Given the description of an element on the screen output the (x, y) to click on. 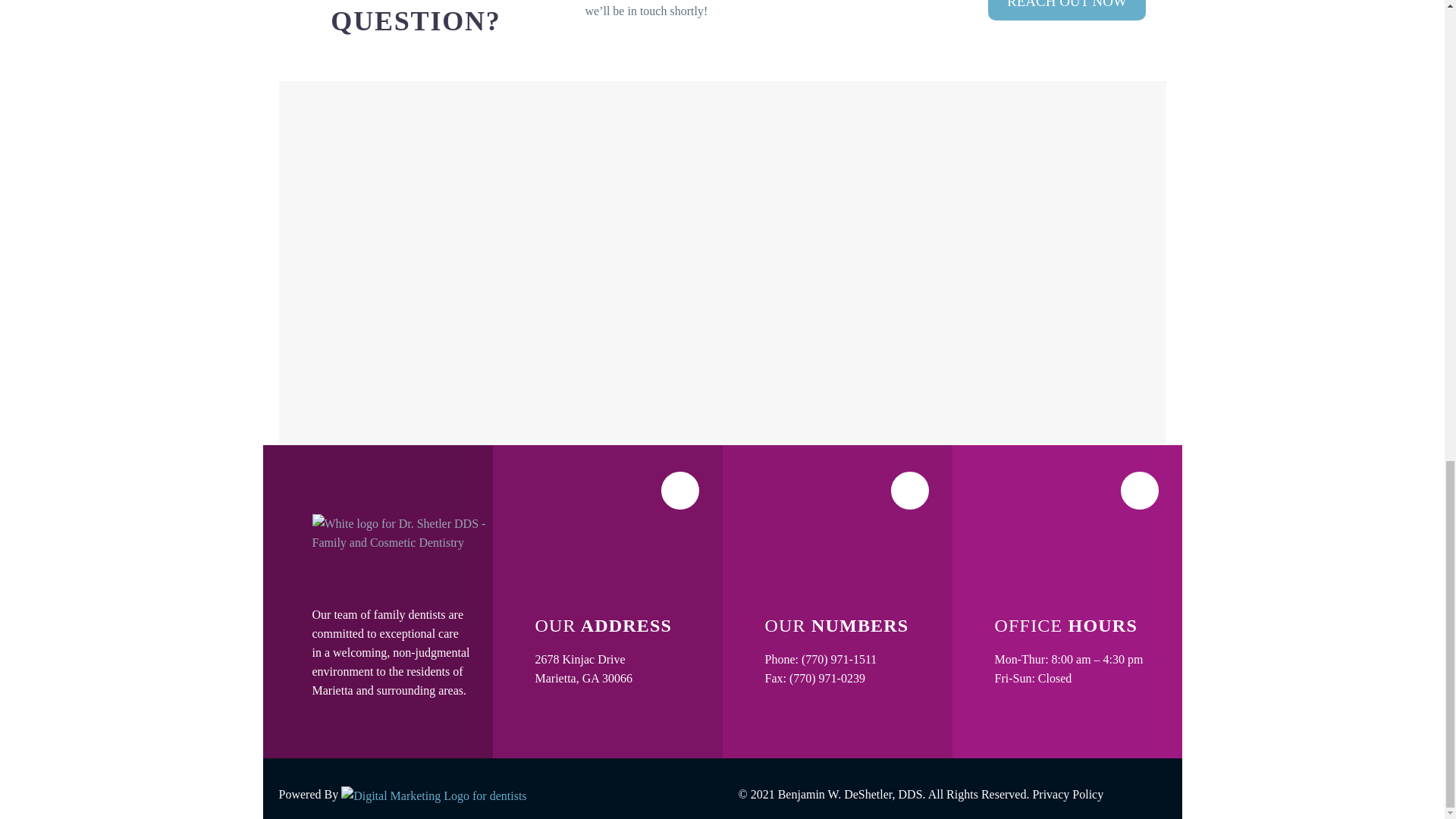
Contact (1066, 10)
